Given the description of an element on the screen output the (x, y) to click on. 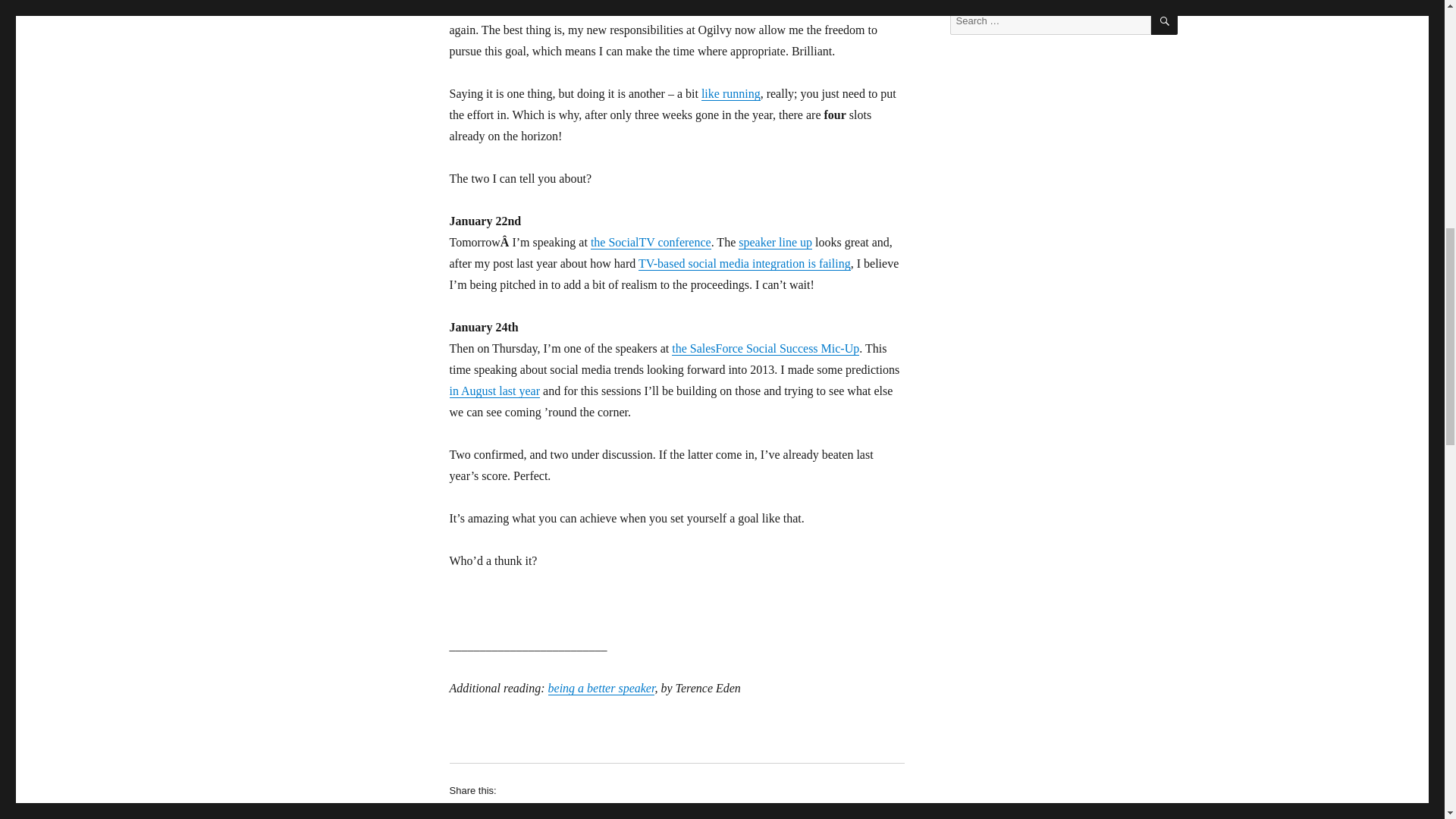
Facebook (486, 812)
in August last year (494, 390)
the SalesForce Social Success Mic-Up (765, 348)
Click to share on Facebook (486, 812)
like running (730, 92)
X (552, 812)
Click to share on X (552, 812)
speaker line up (775, 241)
being a better speaker (601, 687)
TV-based social media integration is failing (744, 263)
the SocialTV conference (651, 241)
